Given the description of an element on the screen output the (x, y) to click on. 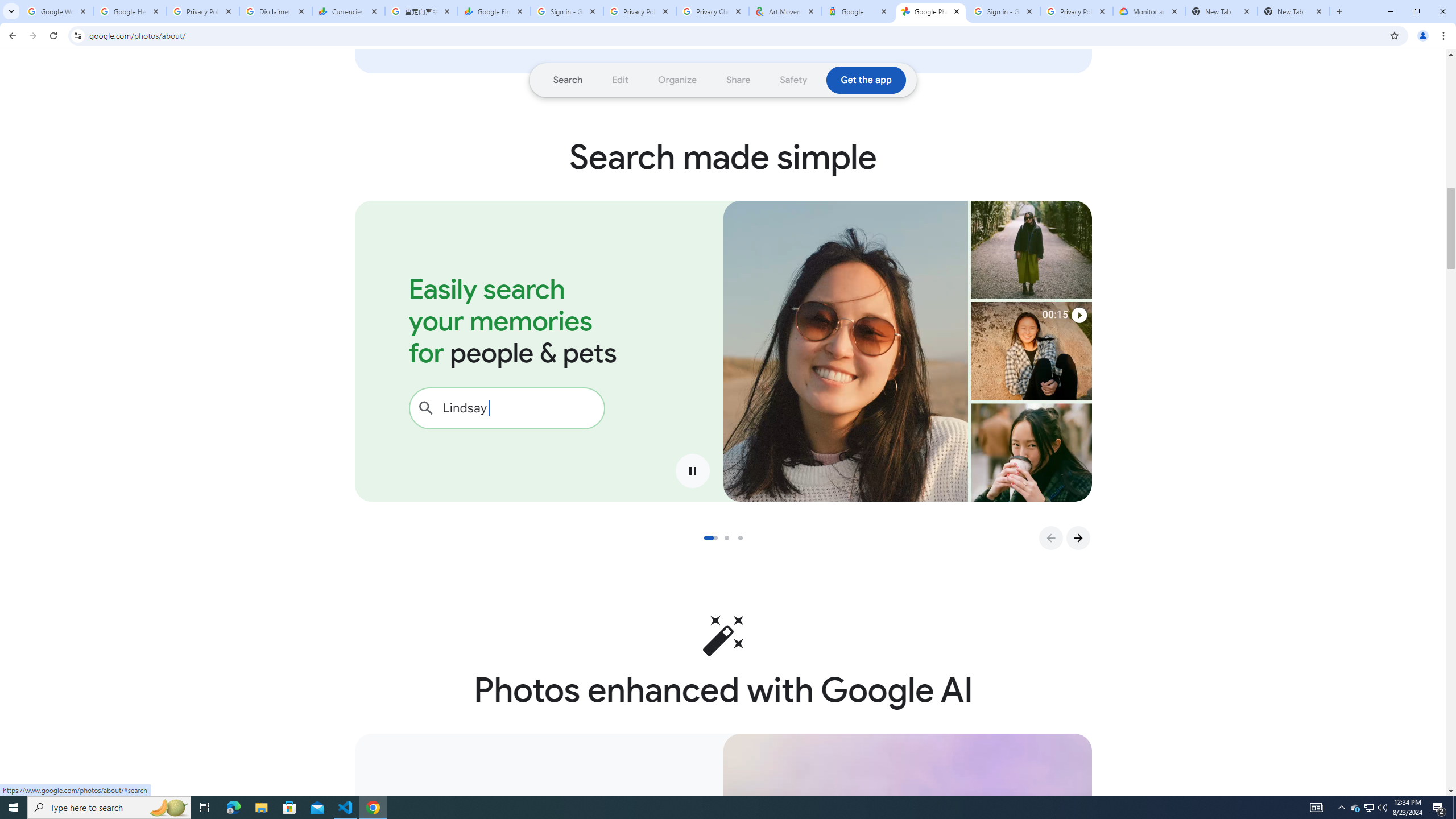
Privacy Checkup (712, 11)
Go to section: Edit (620, 80)
Go to section: Search (567, 80)
Go to Next Slide (1077, 537)
Google Workspace Admin Community (57, 11)
Currencies - Google Finance (348, 11)
Wand with sparkles (723, 635)
New Tab (1221, 11)
